Given the description of an element on the screen output the (x, y) to click on. 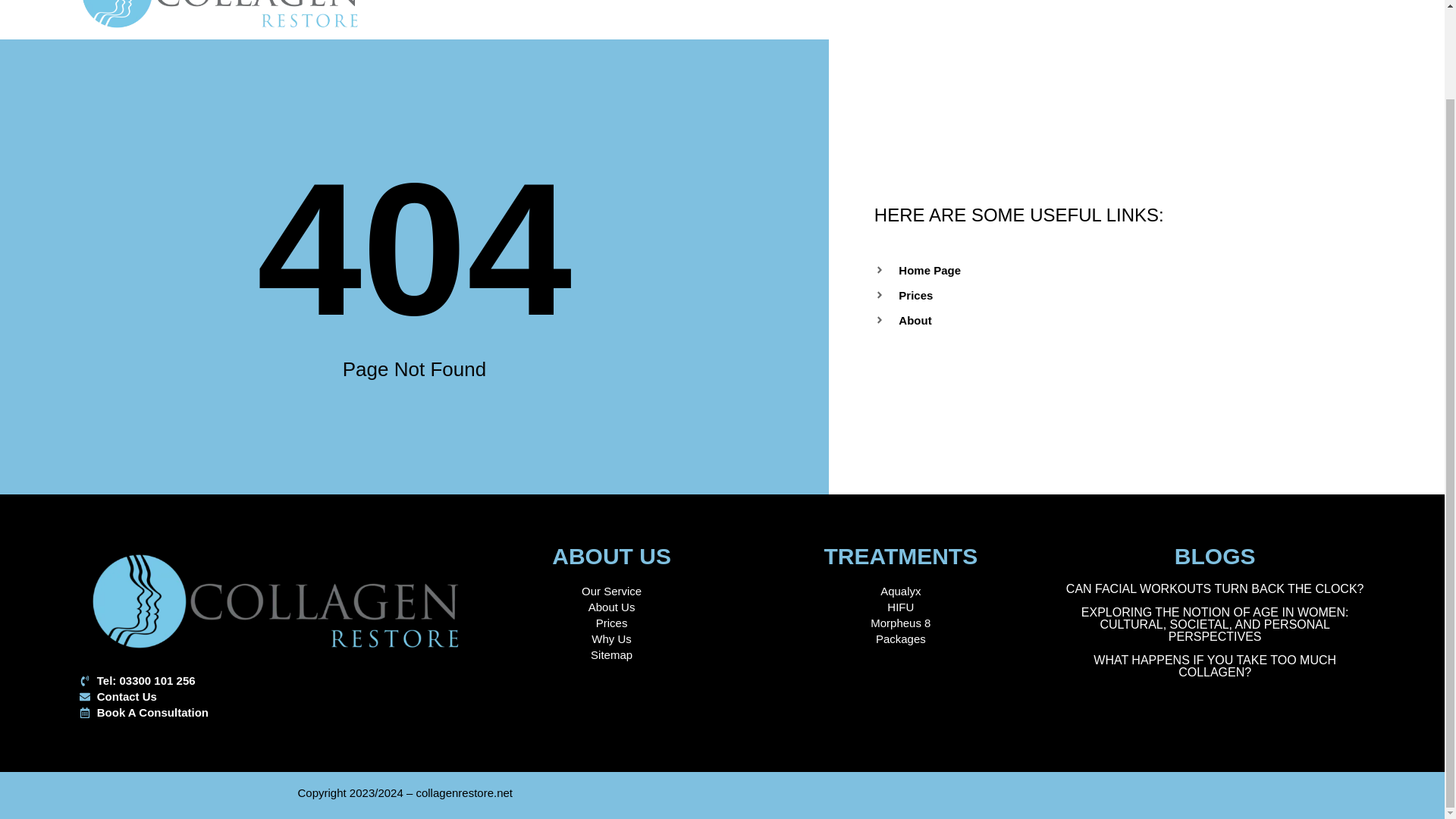
BOOK A CONSULTATION (1045, 4)
About (1148, 320)
OUR SERVICES (783, 4)
Prices (1148, 295)
CONTACT US (901, 4)
Contact Us (275, 696)
Tel: 03300 101 256 (275, 680)
Home Page (1148, 270)
ABOUT US (672, 4)
About Us (611, 606)
